Given the description of an element on the screen output the (x, y) to click on. 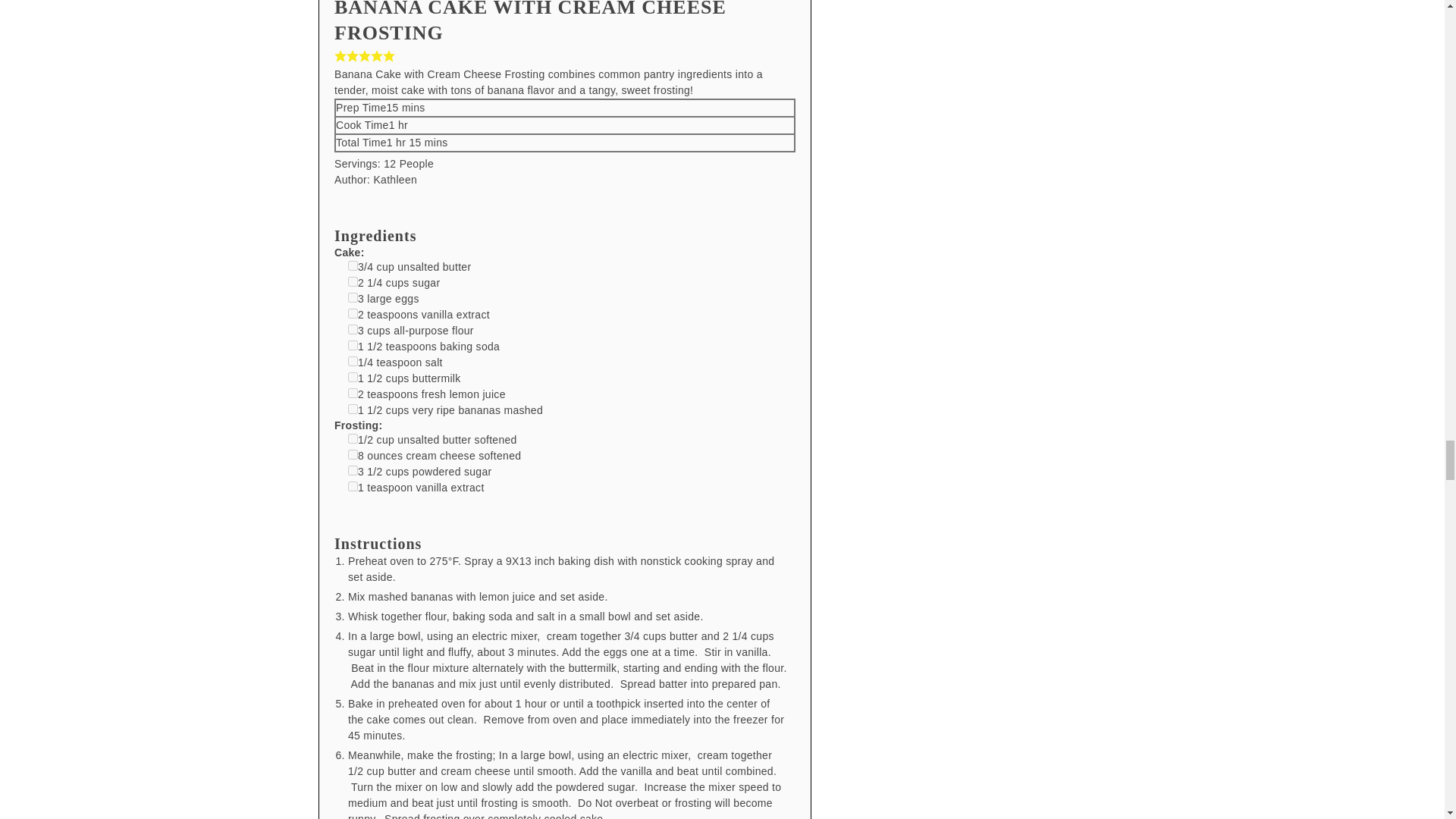
on (352, 470)
on (352, 454)
on (352, 297)
on (352, 313)
on (352, 377)
on (352, 345)
on (352, 266)
on (352, 393)
on (352, 438)
on (352, 281)
